Given the description of an element on the screen output the (x, y) to click on. 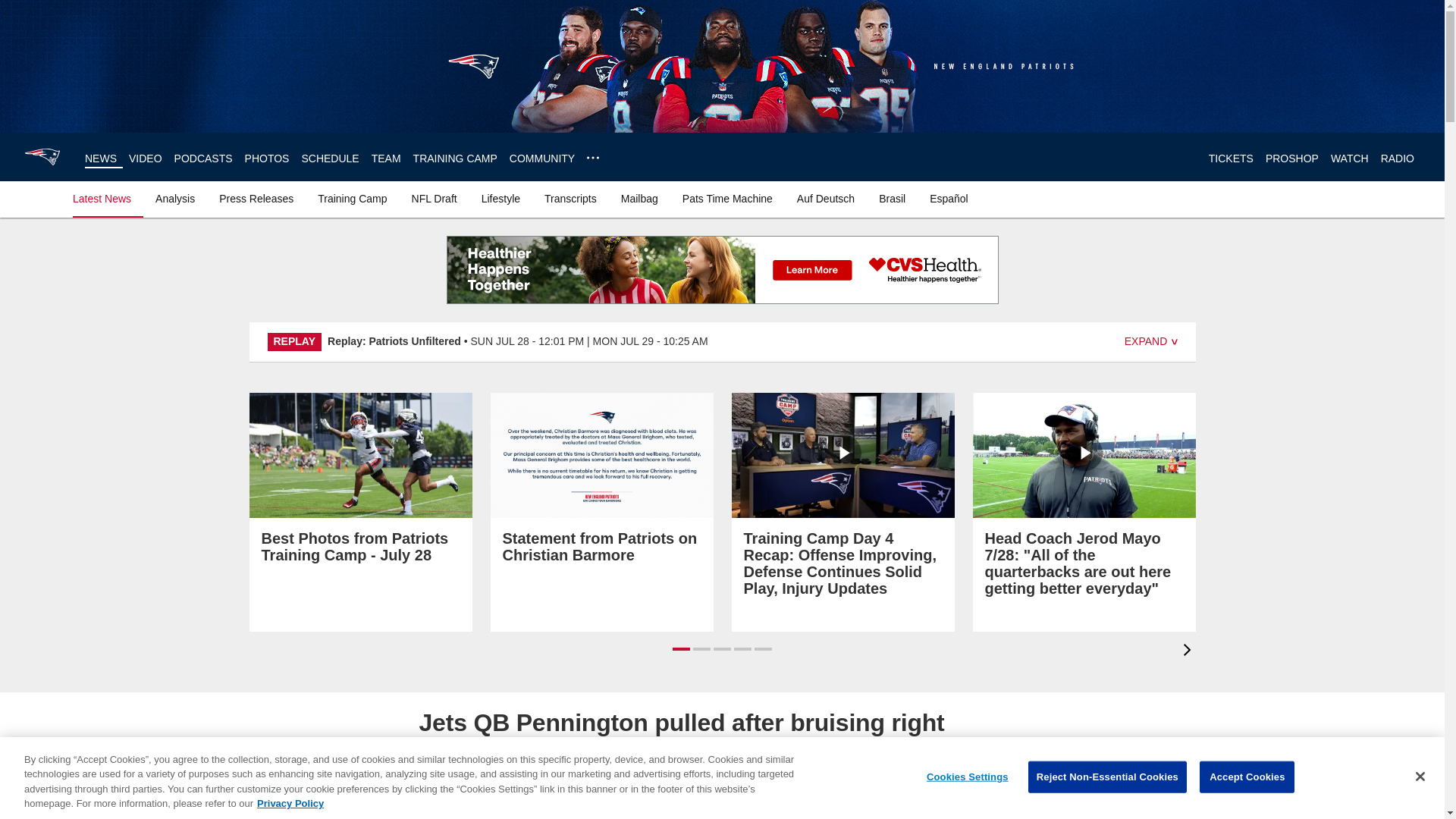
Mailbag (638, 198)
WATCH (1349, 158)
SCHEDULE (329, 158)
Brasil (891, 198)
PODCASTS (203, 158)
VIDEO (145, 158)
TRAINING CAMP (455, 158)
NEWS (100, 158)
TRAINING CAMP (455, 158)
TEAM (386, 158)
Pats Time Machine (727, 198)
Training Camp (352, 198)
PROSHOP (1292, 158)
COMMUNITY (542, 158)
EXPAND (1150, 341)
